Given the description of an element on the screen output the (x, y) to click on. 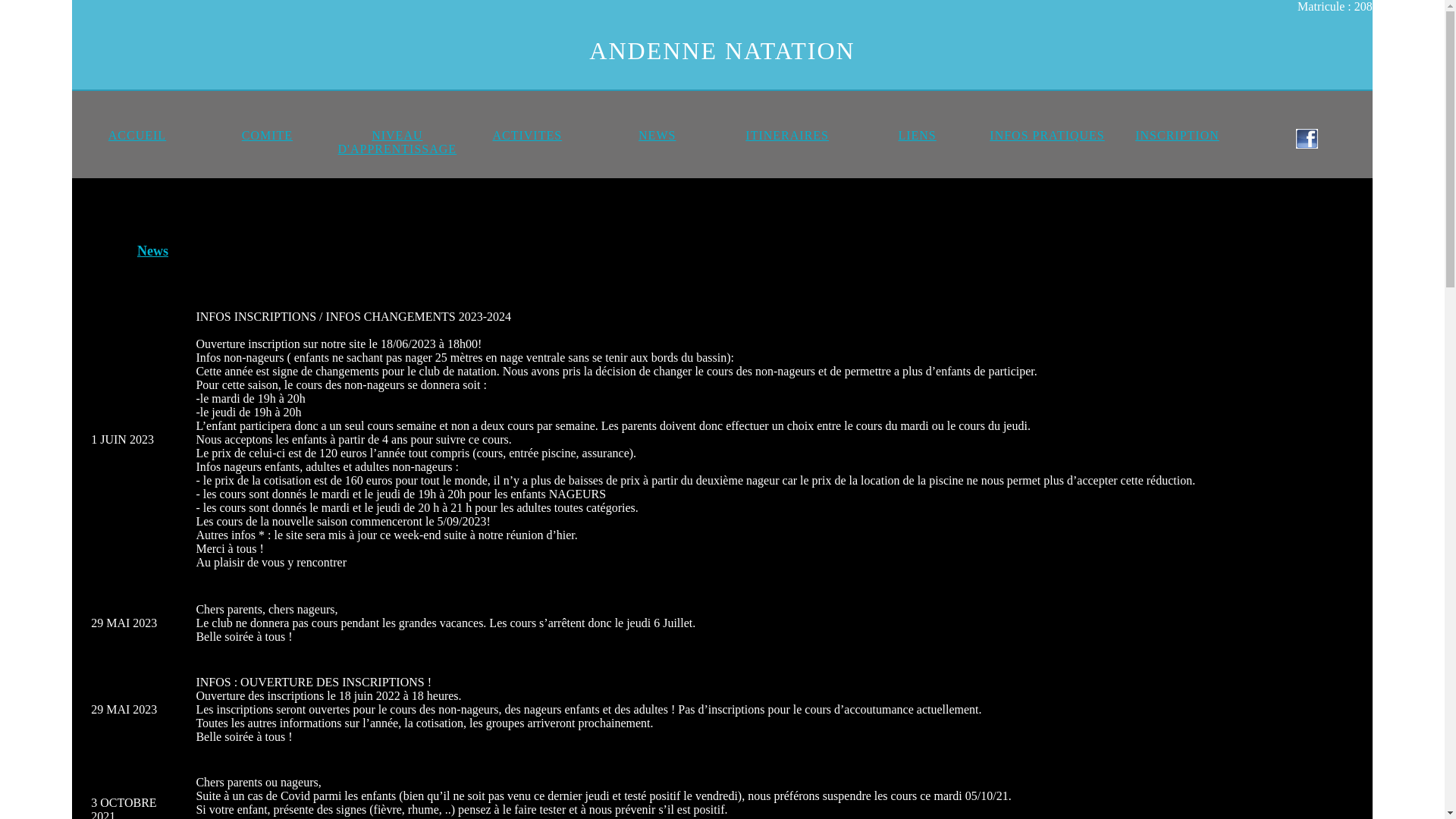
INFOS PRATIQUES Element type: text (1046, 134)
INSCRIPTION Element type: text (1177, 134)
NIVEAU D'APPRENTISSAGE Element type: text (397, 141)
LIENS Element type: text (916, 134)
COMITE Element type: text (266, 134)
ACTIVITES Element type: text (526, 134)
ITINERAIRES Element type: text (786, 134)
ACCUEIL Element type: text (137, 134)
NEWS Element type: text (656, 134)
